Given the description of an element on the screen output the (x, y) to click on. 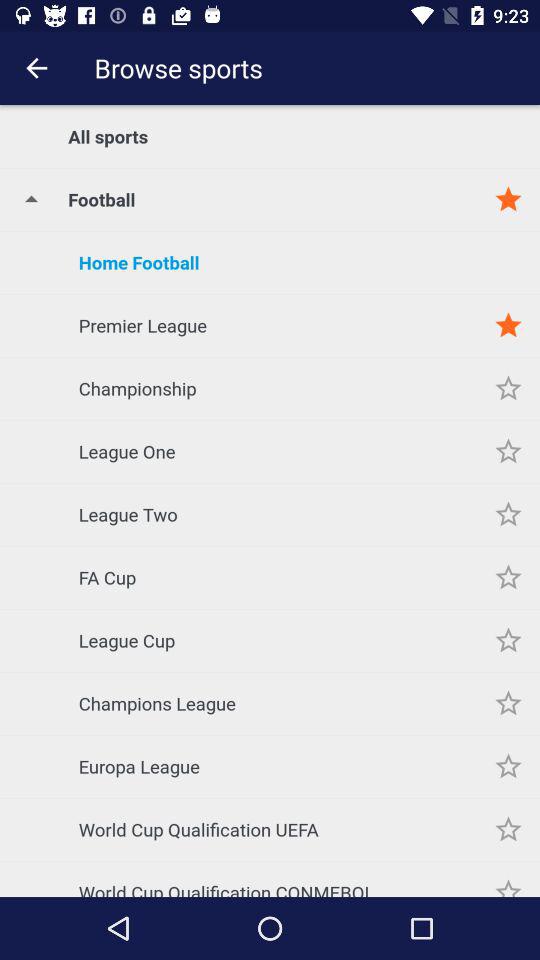
add to favorites (508, 325)
